Given the description of an element on the screen output the (x, y) to click on. 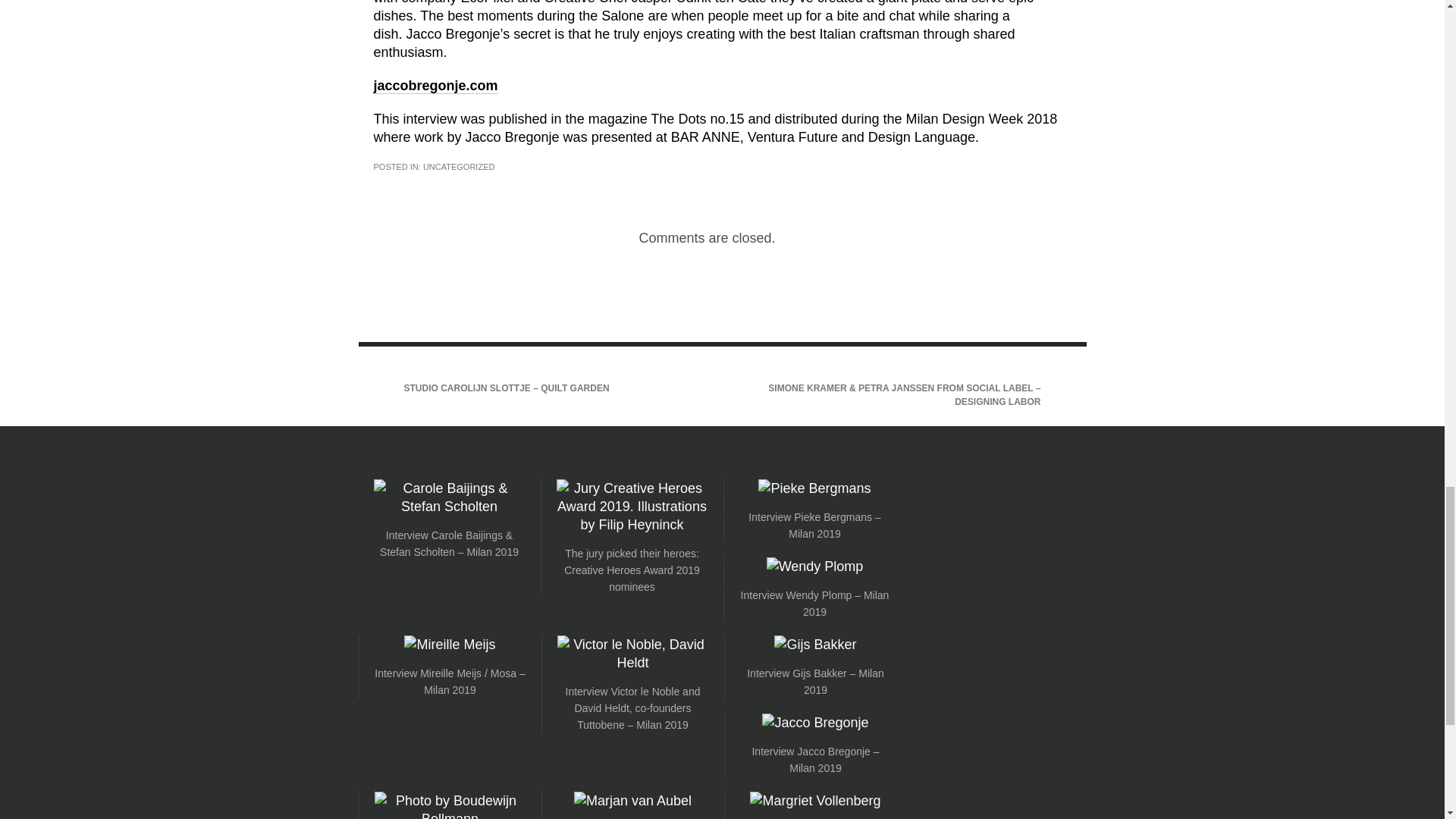
jaccobregonje.com (434, 85)
UNCATEGORIZED (459, 166)
